Given the description of an element on the screen output the (x, y) to click on. 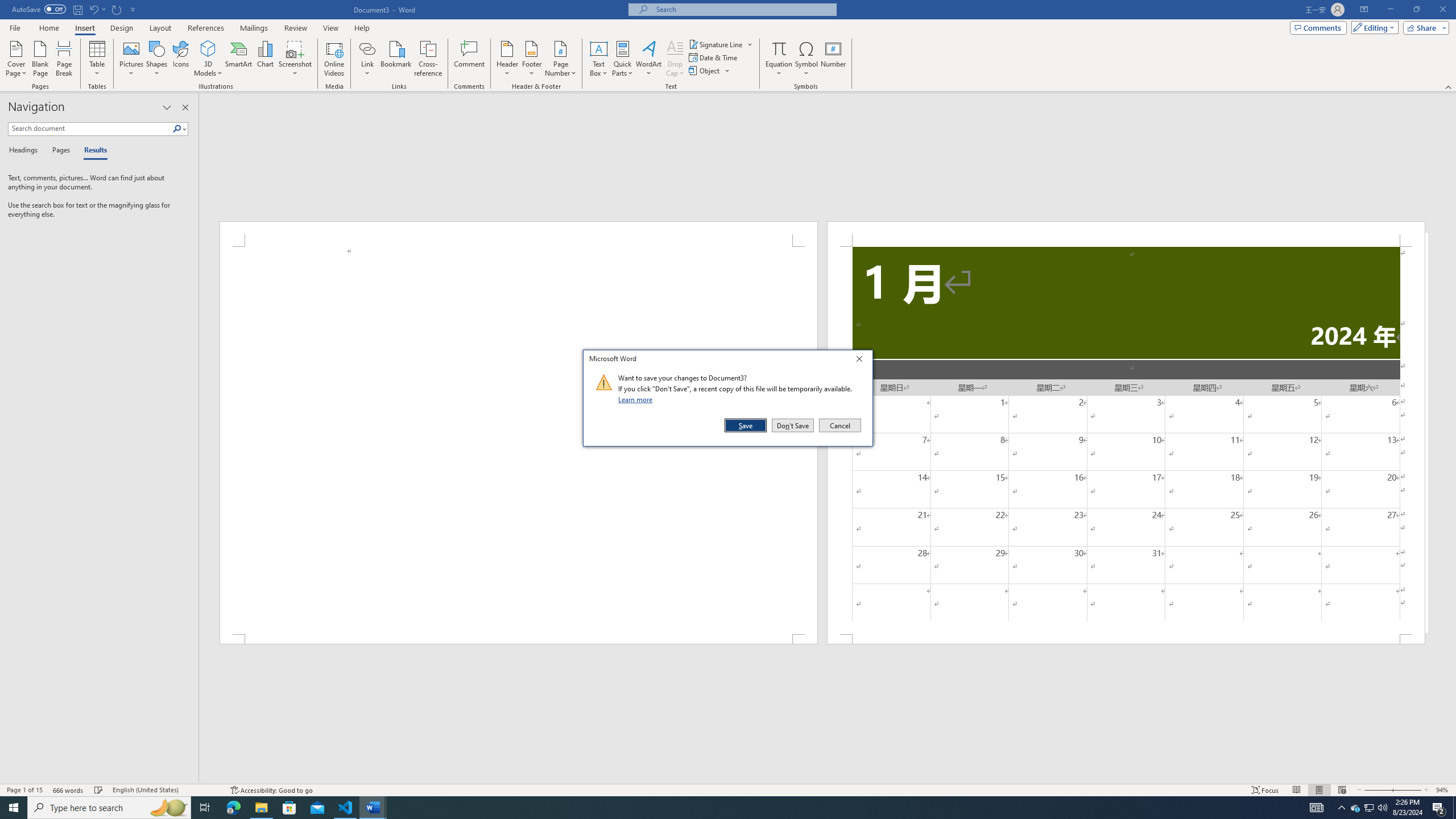
Equation (778, 58)
Accessibility Checker Accessibility: Good to go (271, 790)
Symbol (1355, 807)
Running applications (806, 58)
Show desktop (717, 807)
Page Number Page 1 of 15 (1454, 807)
Don't Save (24, 790)
Blank Page (792, 425)
Spelling and Grammar Check Checking (40, 58)
File Explorer - 1 running window (98, 790)
Signature Line (261, 807)
